Given the description of an element on the screen output the (x, y) to click on. 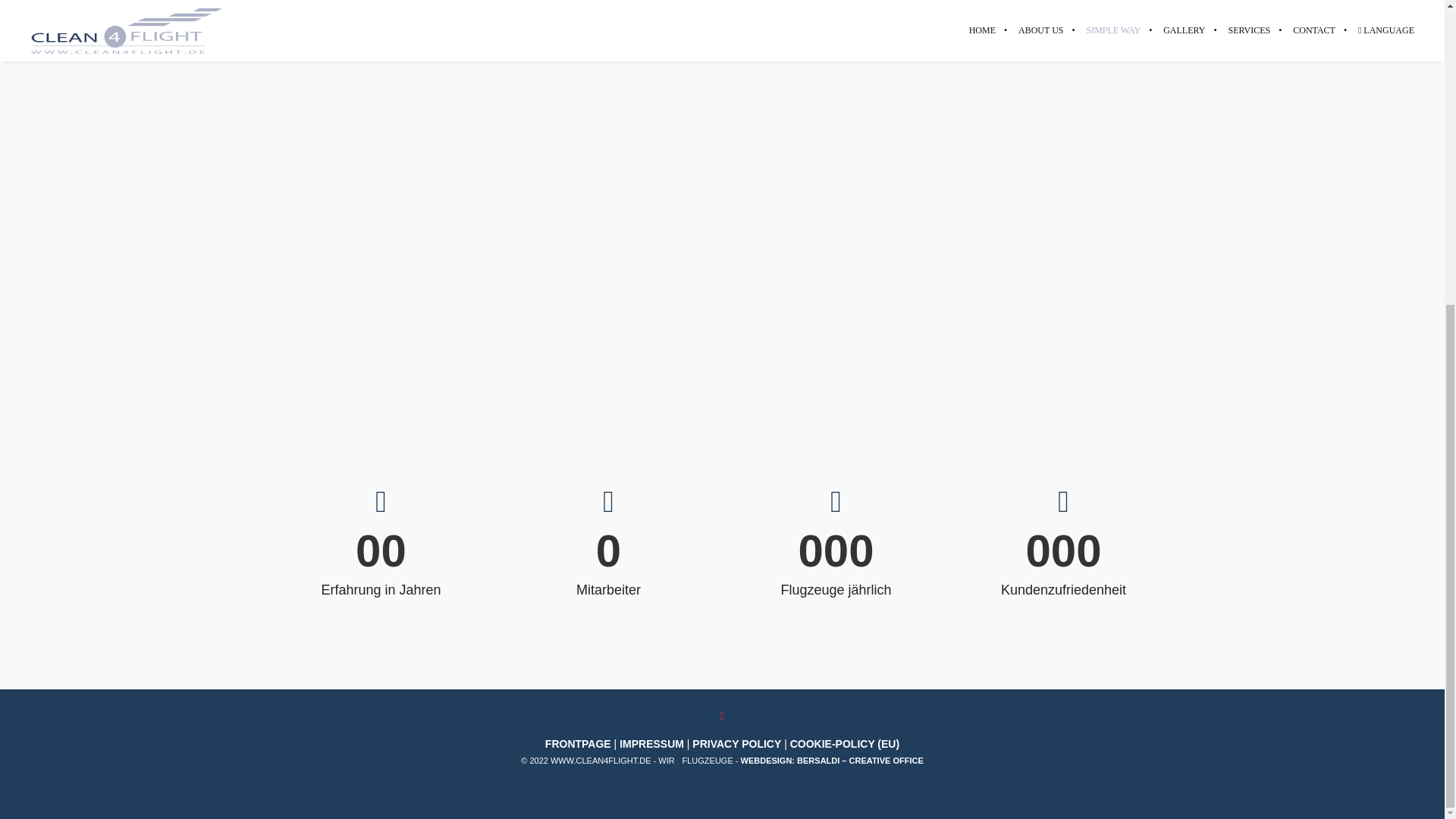
PRIVACY POLICY (736, 743)
Impressum (652, 743)
IMPRESSUM (652, 743)
Front Page (577, 743)
Privacy Policy (736, 743)
FRONTPAGE (577, 743)
